Given the description of an element on the screen output the (x, y) to click on. 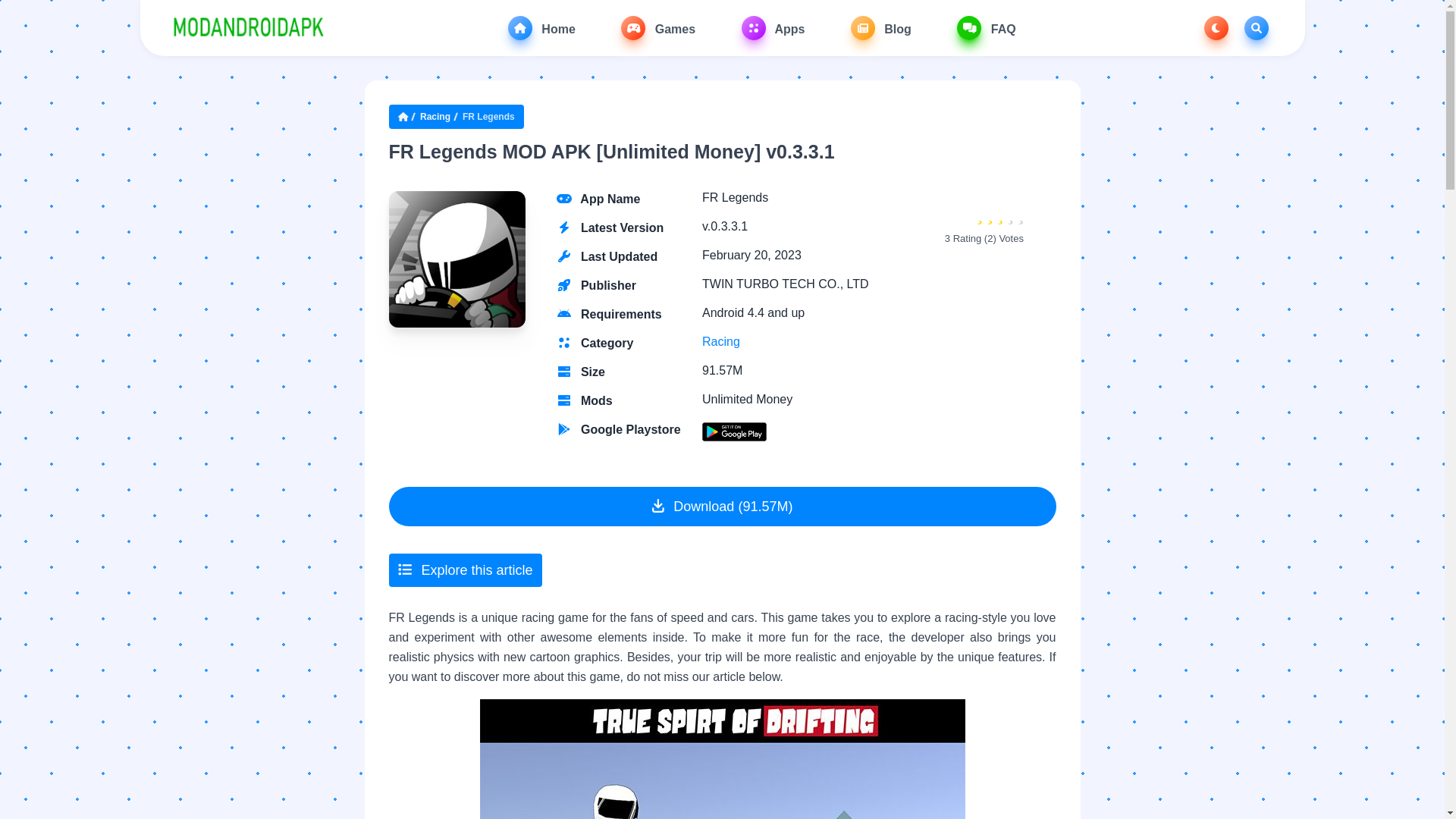
Racing (720, 341)
Games (658, 27)
FAQ (985, 27)
Home (541, 27)
Blog (880, 27)
Explore this article (464, 570)
Apps (773, 27)
Search (1255, 27)
Racing (435, 116)
Dark Mode (1216, 27)
